Given the description of an element on the screen output the (x, y) to click on. 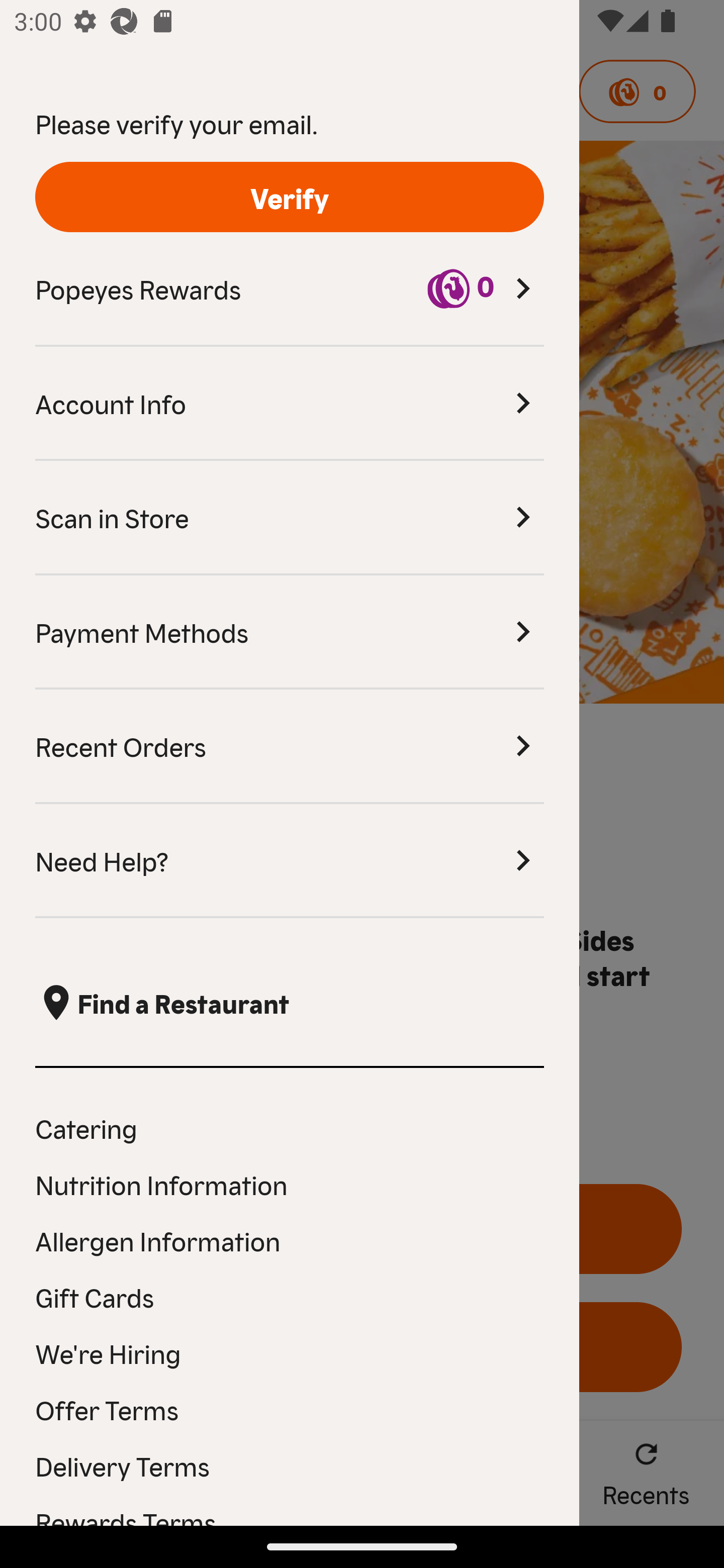
Verify (289, 196)
Account Info Account Info  (289, 403)
Scan in Store Scan in Store  (289, 517)
Payment Methods Payment Methods  (289, 632)
Recent Orders Recent Orders  (289, 746)
Need Help? Need Help?  (289, 861)
, Find a Restaurant  Find a Restaurant (289, 1002)
Catering (289, 1127)
Nutrition Information (289, 1183)
Allergen Information (289, 1240)
Gift Cards (289, 1296)
We're Hiring (289, 1352)
Offer Terms (289, 1409)
Delivery Terms (289, 1465)
